Given the description of an element on the screen output the (x, y) to click on. 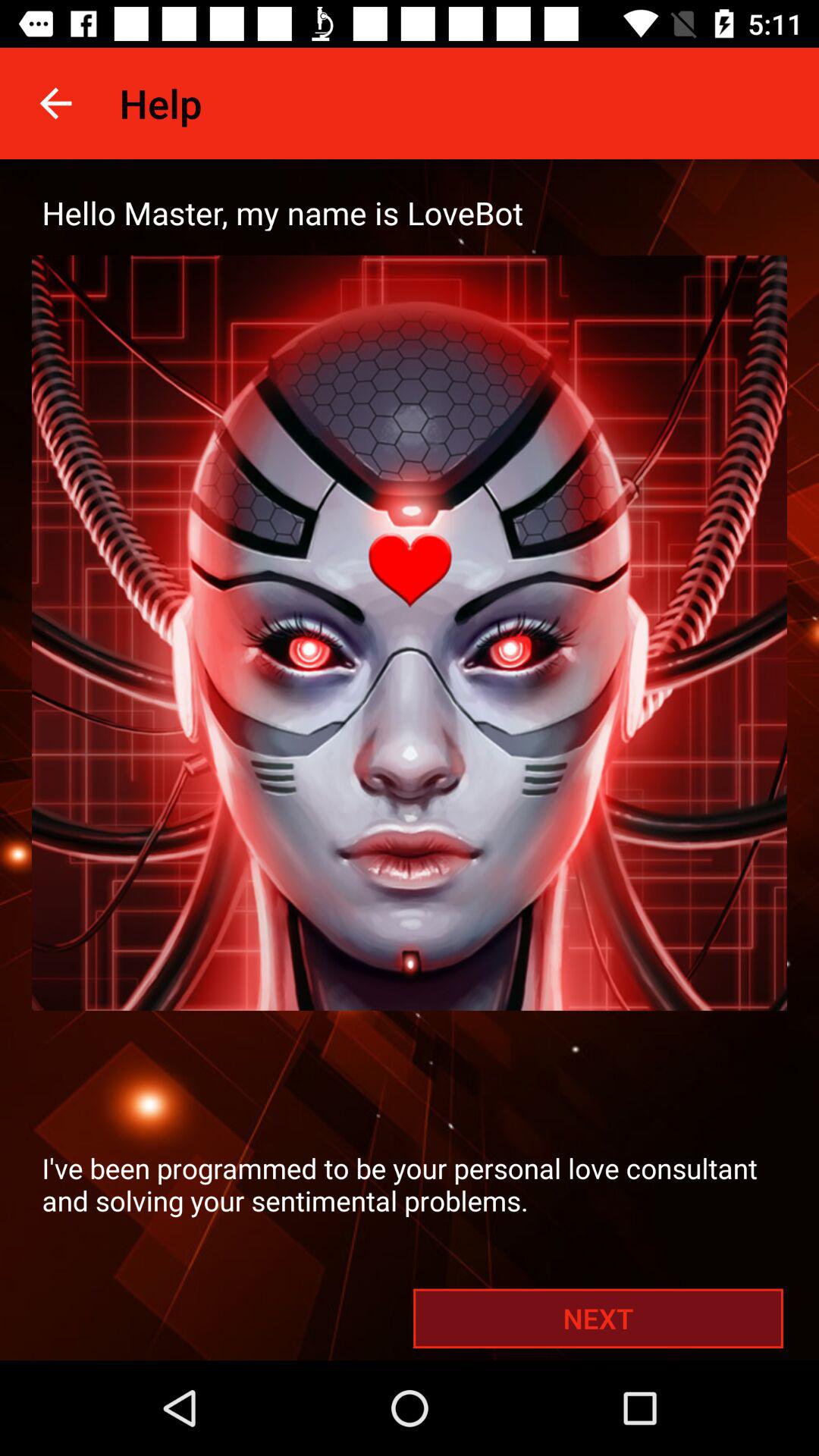
press icon above the hello master my item (55, 103)
